Given the description of an element on the screen output the (x, y) to click on. 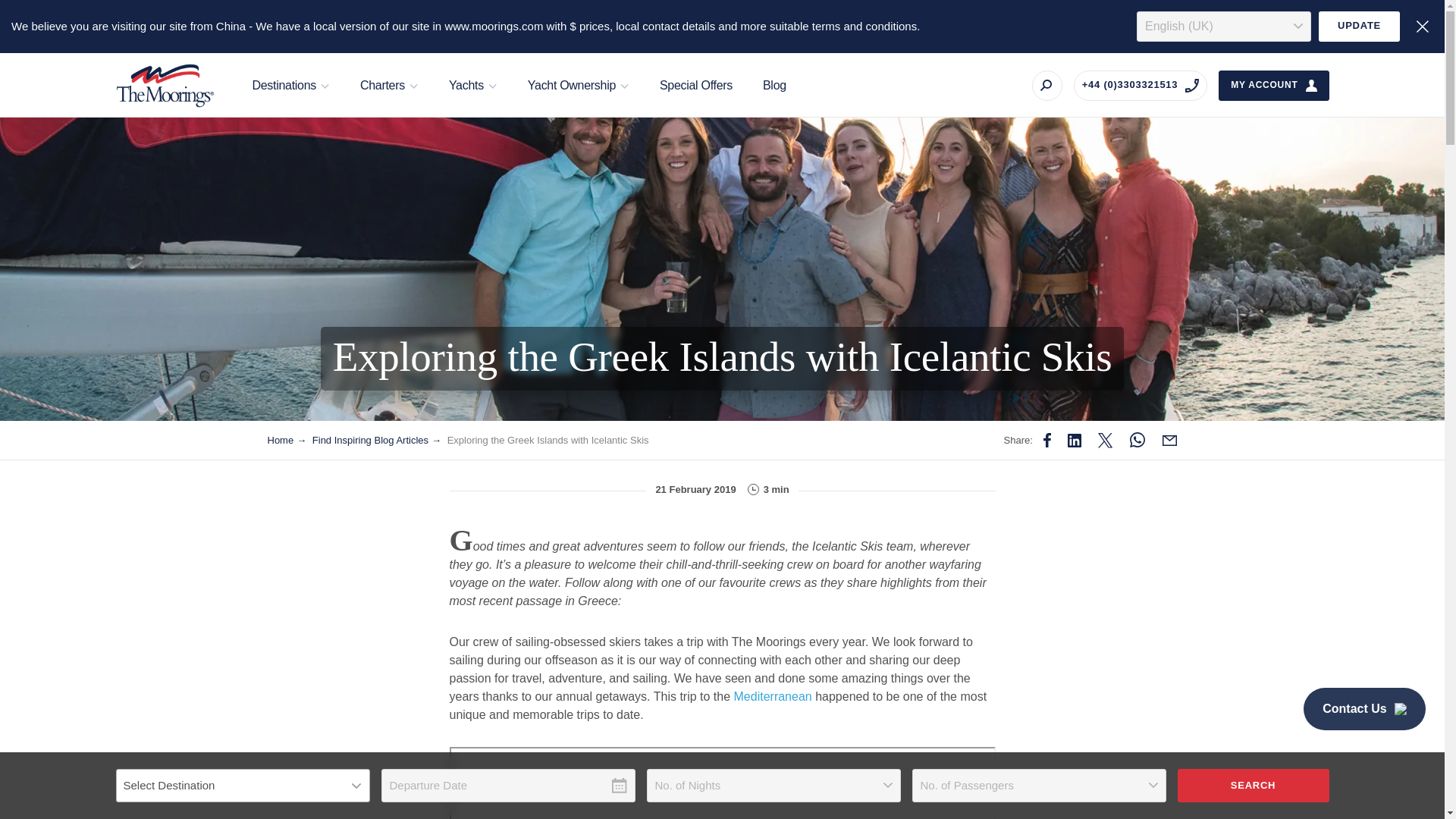
Share on Twitter (1105, 440)
Destinations (289, 85)
Share on WhatsApp (1136, 439)
UPDATE (1359, 26)
Charters (389, 85)
Share by Email (1169, 439)
Share on Twitter (1074, 440)
